Given the description of an element on the screen output the (x, y) to click on. 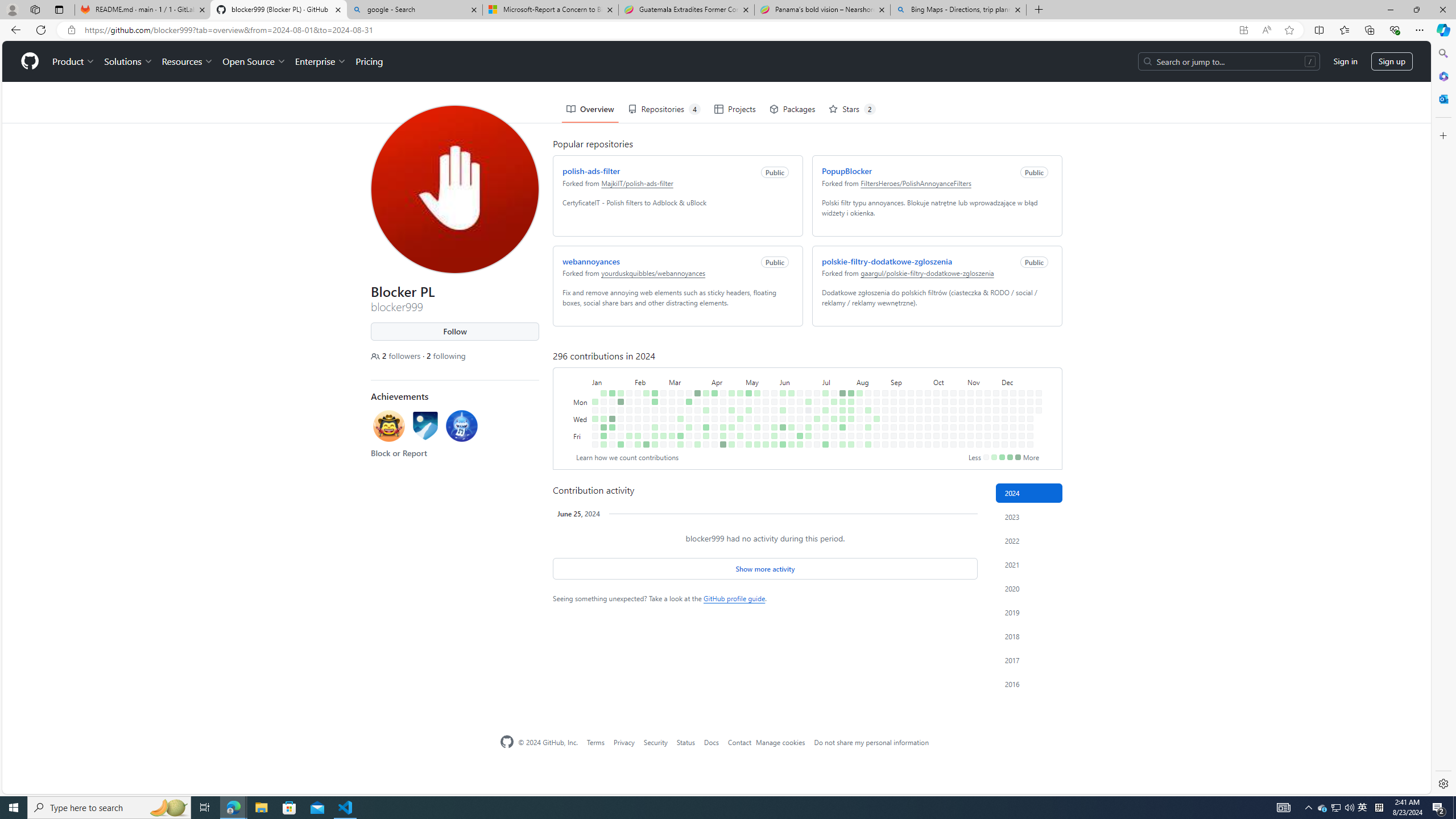
May (759, 339)
No contributions on December 13th. (1013, 435)
No contributions on January 25th. (618, 386)
No contributions on August 20th. (873, 369)
1 contribution on April 25th. (729, 386)
No contributions on March 12th. (678, 369)
1 contribution on July 23rd. (840, 369)
No contributions on September 11th. (899, 377)
Search icon (70, 29)
Contribution activity in 2023 (1028, 516)
3 contributions on January 10th. (601, 377)
2 contributions on July 3rd. (814, 377)
No contributions on March 4th. (669, 360)
No contributions on November 9th. (970, 444)
